Given the description of an element on the screen output the (x, y) to click on. 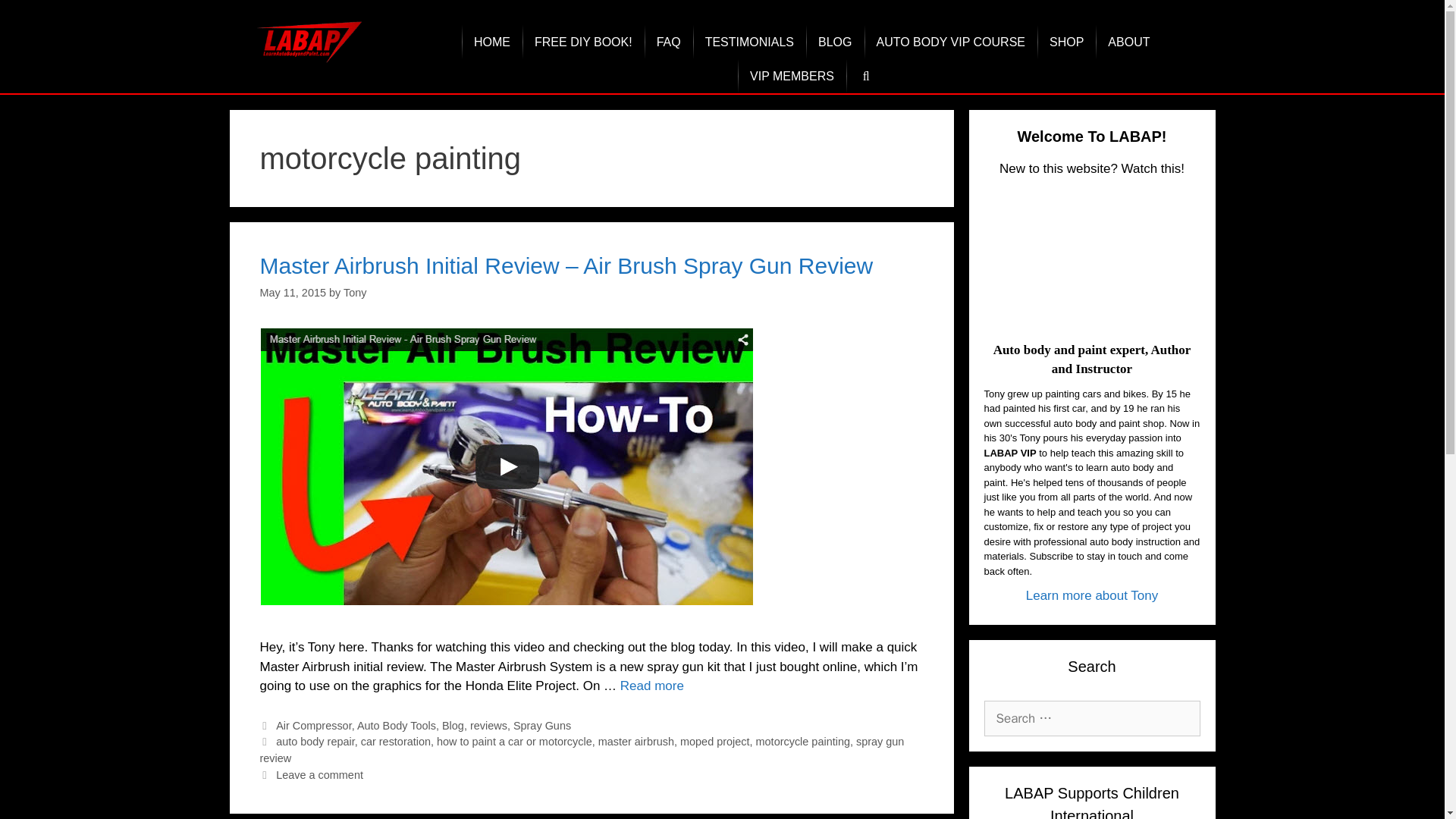
Blog (453, 725)
FREE DIY BOOK! (583, 41)
FAQ (669, 41)
TESTIMONIALS (749, 41)
HOME (491, 41)
Search (35, 18)
Auto Body Tools (395, 725)
reviews (488, 725)
Learn more about Tony (1092, 595)
VIP MEMBERS (791, 75)
